Given the description of an element on the screen output the (x, y) to click on. 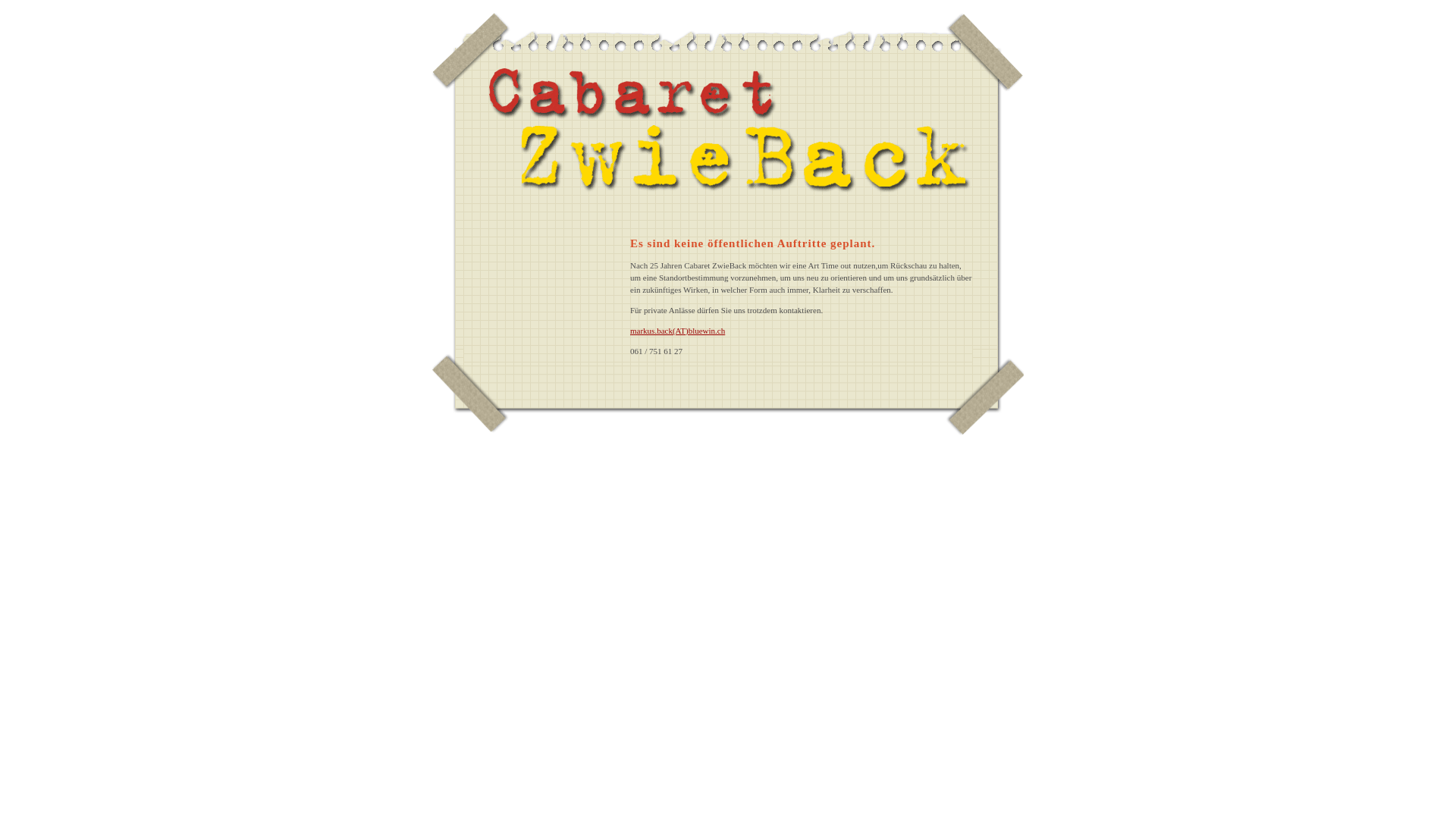
markus.back(AT)bluewin.ch Element type: text (677, 330)
